Given the description of an element on the screen output the (x, y) to click on. 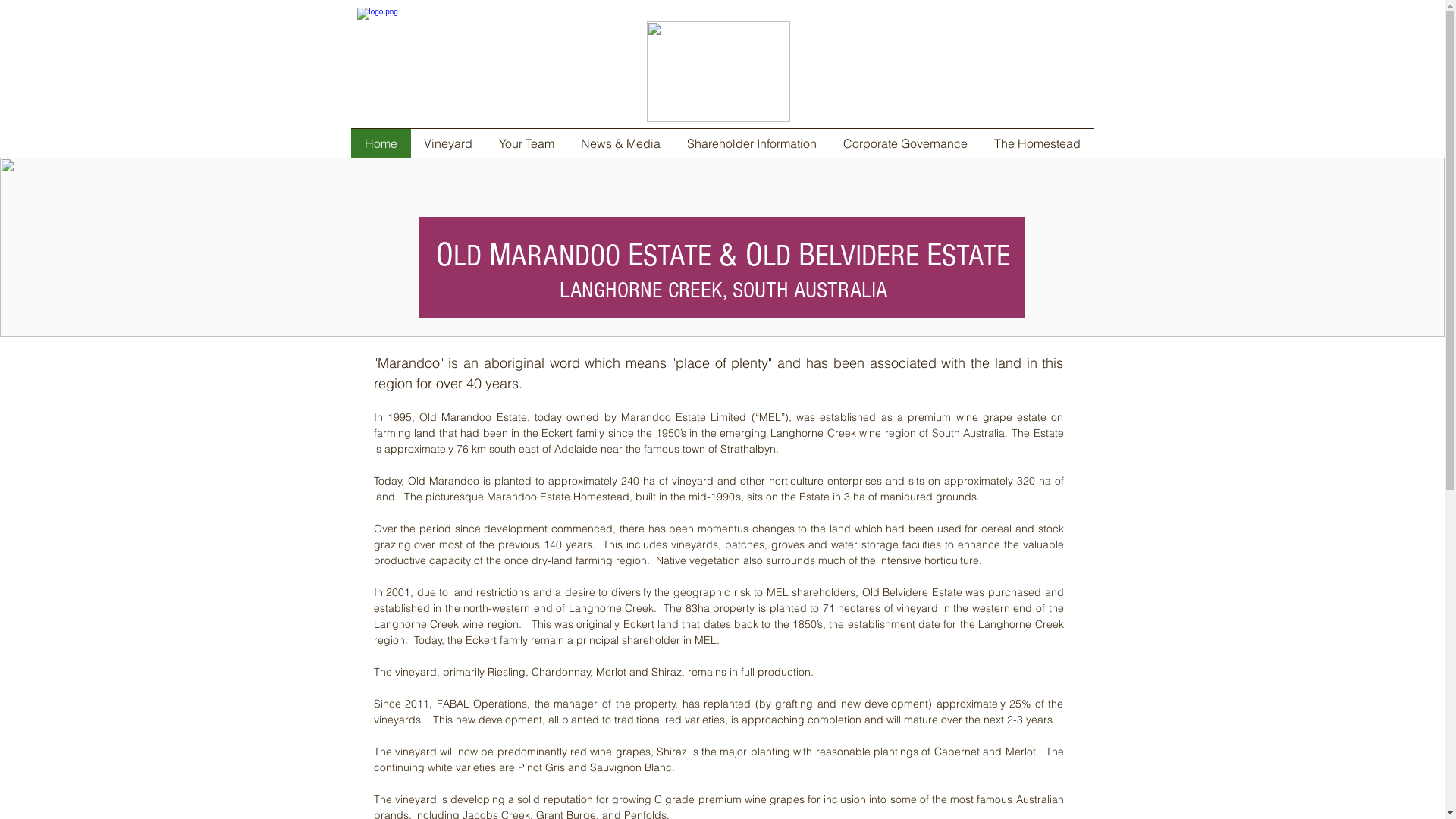
Home Element type: text (380, 142)
Your Team Element type: text (526, 142)
The Homestead Element type: text (1037, 142)
Vineyard Element type: text (448, 142)
Shareholder Information Element type: text (751, 142)
MEL Logo.png Element type: hover (717, 71)
Ops Logo.png Element type: hover (411, 64)
Corporate Governance Element type: text (904, 142)
News & Media Element type: text (620, 142)
